Given the description of an element on the screen output the (x, y) to click on. 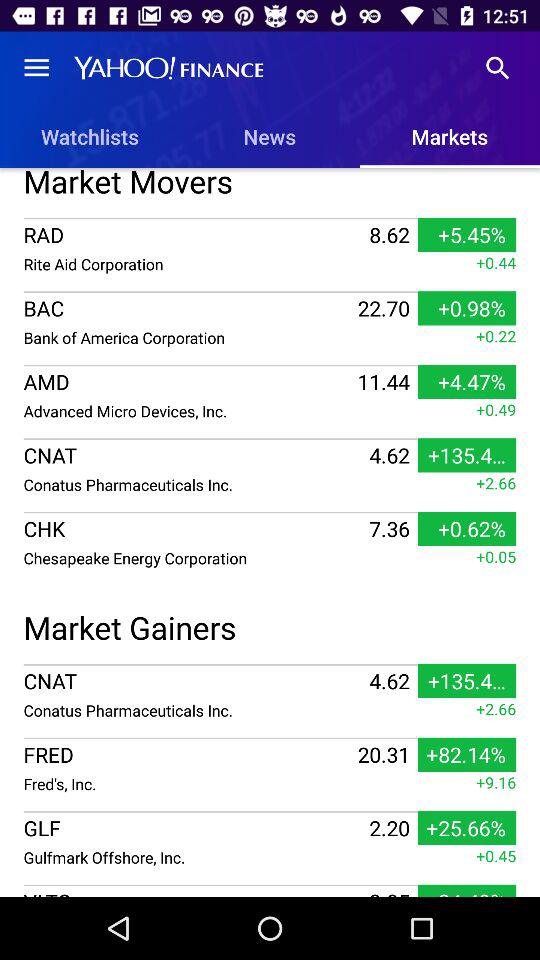
scroll until fred's, inc. (187, 783)
